Given the description of an element on the screen output the (x, y) to click on. 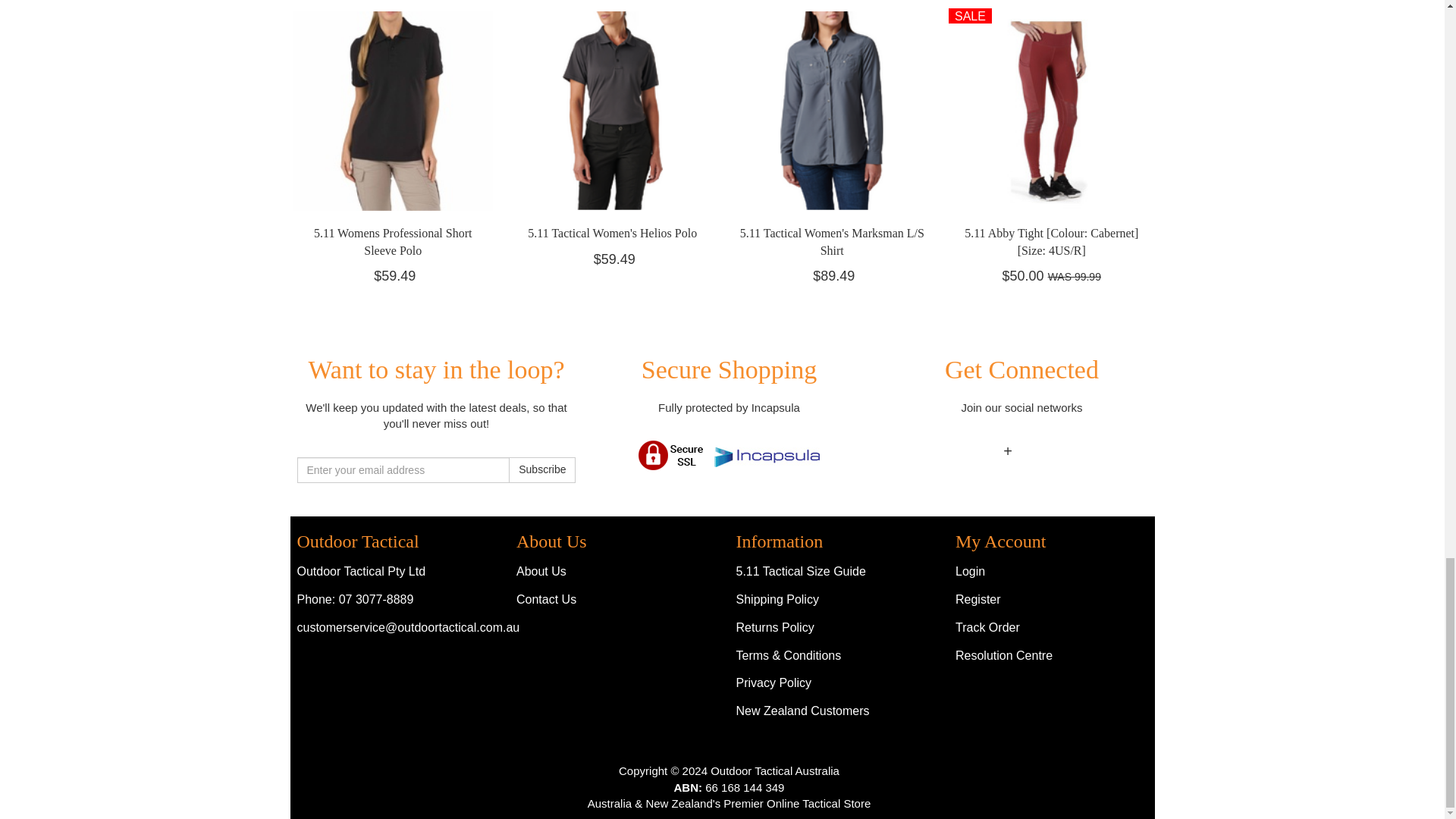
5.11 Tactical Women's Helios Polo (612, 232)
Subscribe (541, 470)
5.11 Womens Professional Short Sleeve Polo (392, 241)
